Given the description of an element on the screen output the (x, y) to click on. 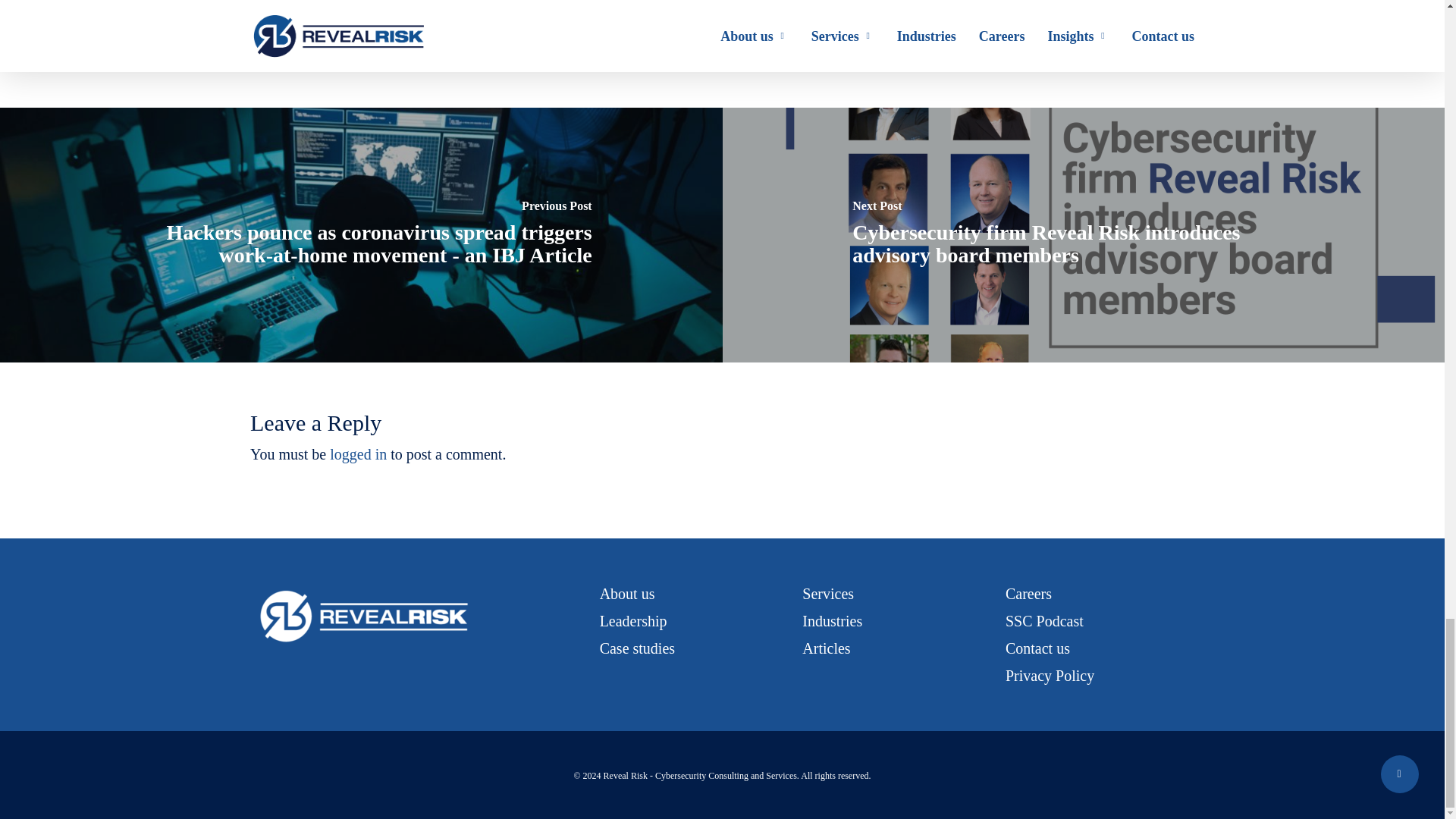
Contact us (1038, 647)
SSC Podcast (1044, 620)
Industries (831, 620)
About us (627, 593)
Case studies (637, 647)
Privacy Policy (1050, 675)
Articles (826, 647)
Leadership (632, 620)
Careers (1028, 593)
Services (827, 593)
logged in (358, 453)
